Given the description of an element on the screen output the (x, y) to click on. 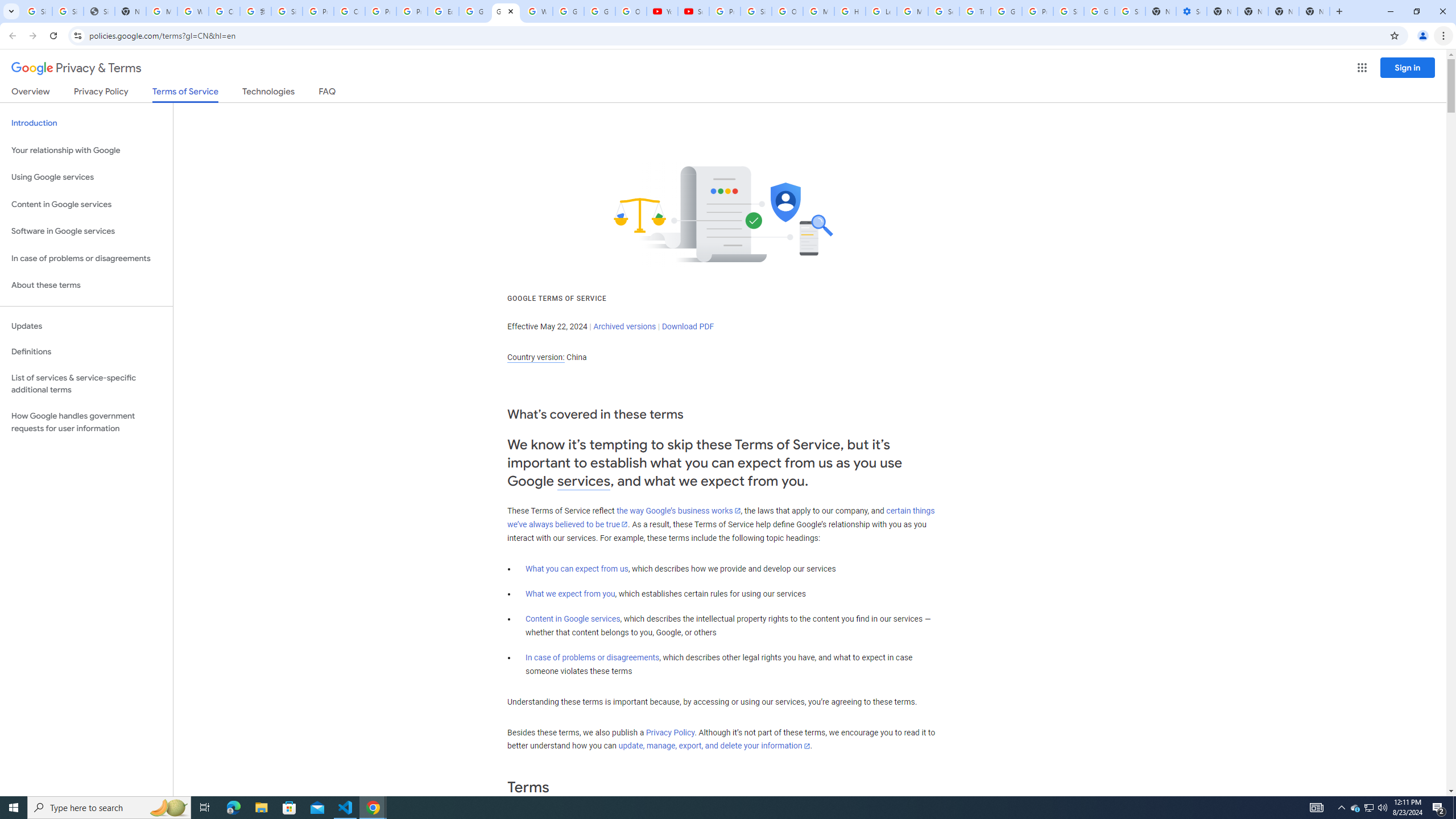
update, manage, export, and delete your information (714, 746)
Google Account (599, 11)
Software in Google services (86, 230)
Sign in - Google Accounts (67, 11)
Sign in - Google Accounts (36, 11)
Settings - Performance (1190, 11)
Content in Google services (572, 618)
Using Google services (86, 176)
